Given the description of an element on the screen output the (x, y) to click on. 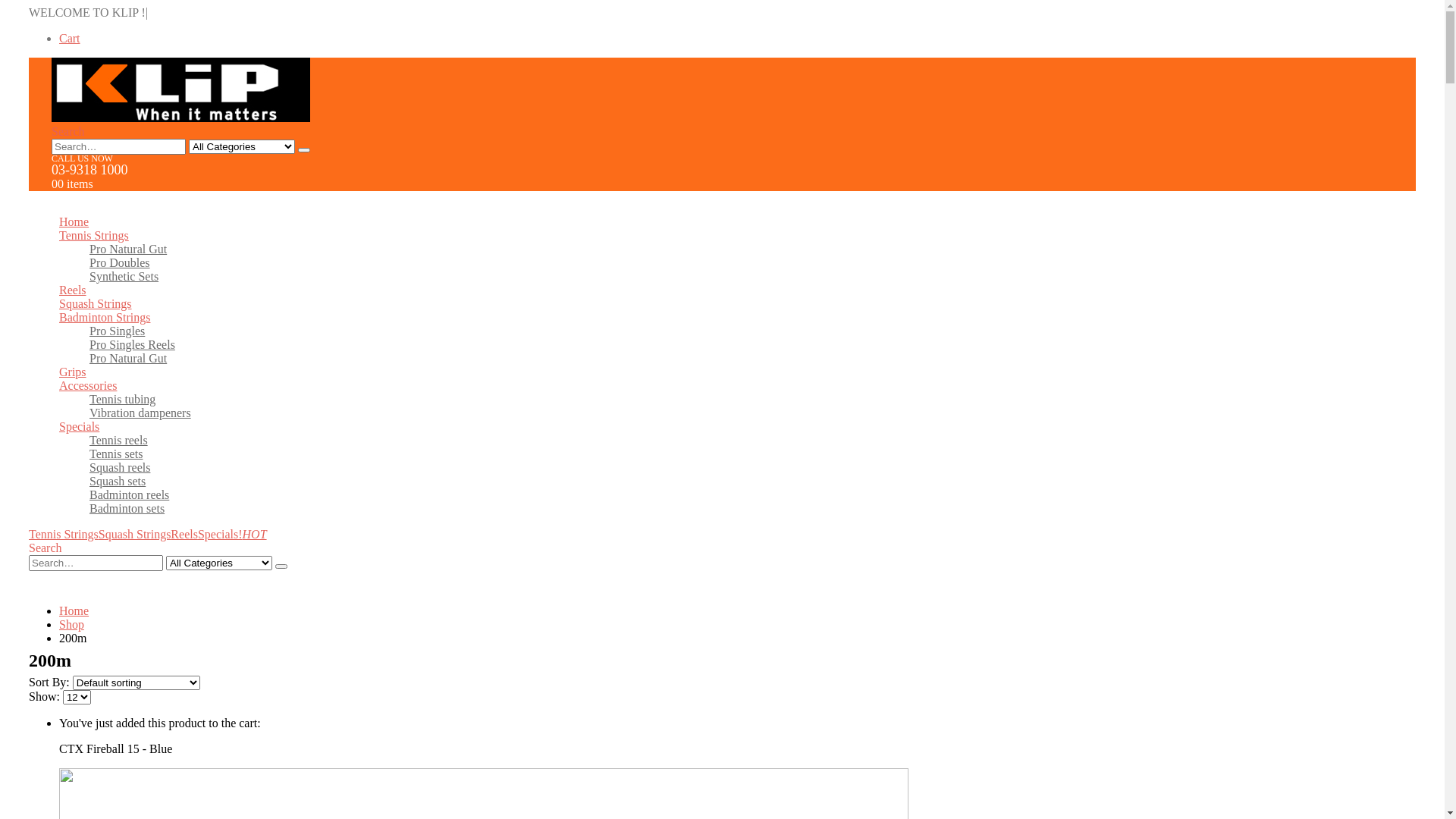
Vibration dampeners Element type: text (140, 412)
Shop Element type: text (71, 624)
Badminton sets Element type: text (126, 508)
Pro Natural Gut Element type: text (127, 248)
Pro Doubles Element type: text (119, 262)
Grips Element type: text (72, 371)
Pro Natural Gut Element type: text (127, 357)
Pro Singles Element type: text (116, 330)
Squash Strings Element type: text (95, 303)
Squash sets Element type: text (117, 480)
Search Element type: hover (304, 149)
Tennis Strings Element type: text (63, 533)
Specials!HOT Element type: text (231, 533)
Synthetic Sets Element type: text (123, 275)
Reels Element type: text (183, 533)
Tennis Strings Element type: text (93, 235)
Search Element type: text (45, 547)
Reels Element type: text (72, 289)
Search Element type: text (67, 131)
Squash reels Element type: text (119, 467)
Cart Element type: text (69, 37)
Home Element type: text (73, 610)
Badminton Strings Element type: text (104, 316)
Tennis tubing Element type: text (122, 398)
Tennis reels Element type: text (118, 439)
Squash Strings Element type: text (134, 533)
KLIP - When it matters Element type: hover (180, 117)
Specials Element type: text (79, 426)
Search Element type: hover (281, 566)
Badminton reels Element type: text (129, 494)
Tennis sets Element type: text (115, 453)
Home Element type: text (73, 221)
Accessories Element type: text (87, 385)
Pro Singles Reels Element type: text (132, 344)
